Given the description of an element on the screen output the (x, y) to click on. 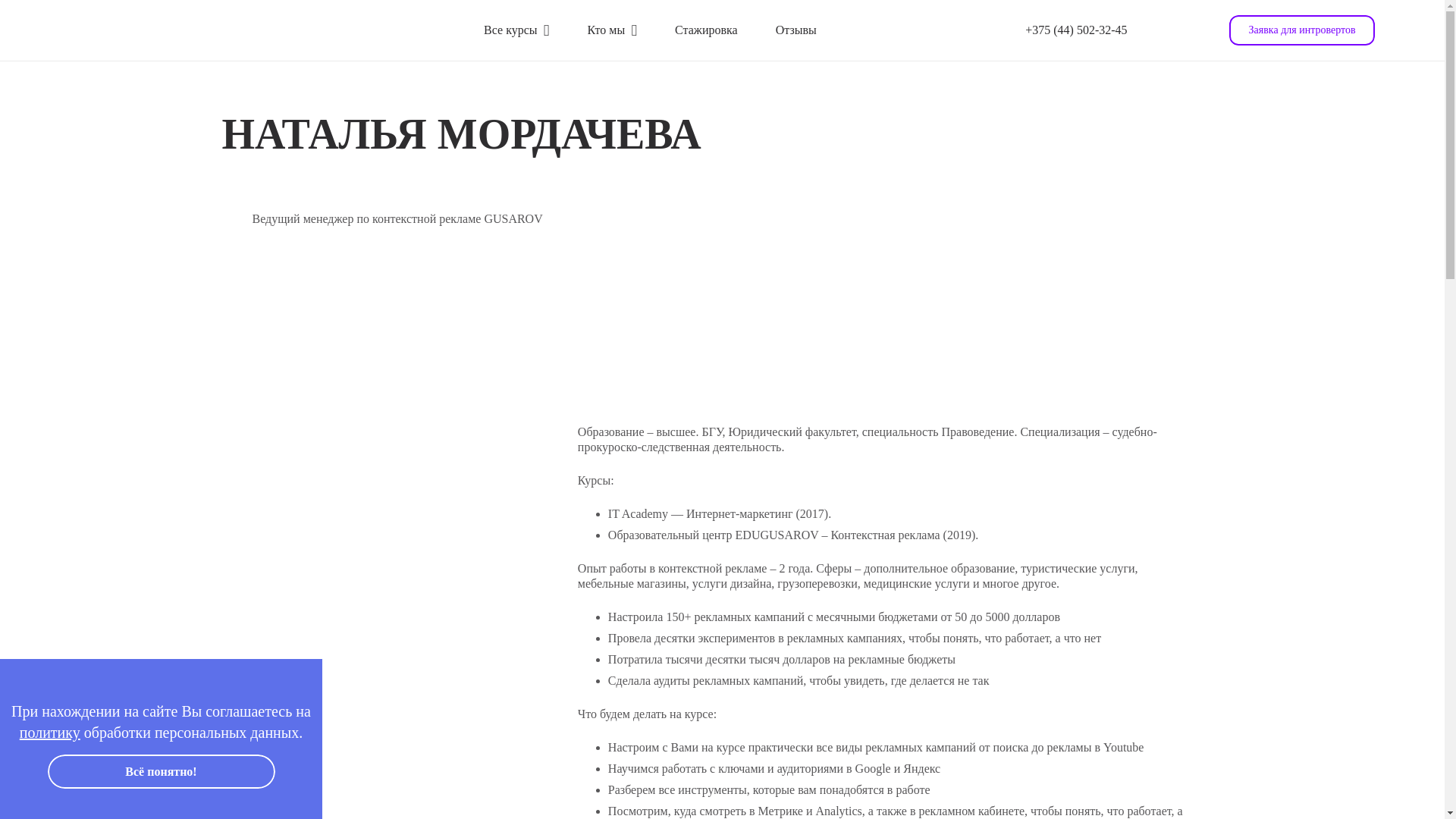
+375 (44) 502-32-45 Element type: text (1075, 29)
